Given the description of an element on the screen output the (x, y) to click on. 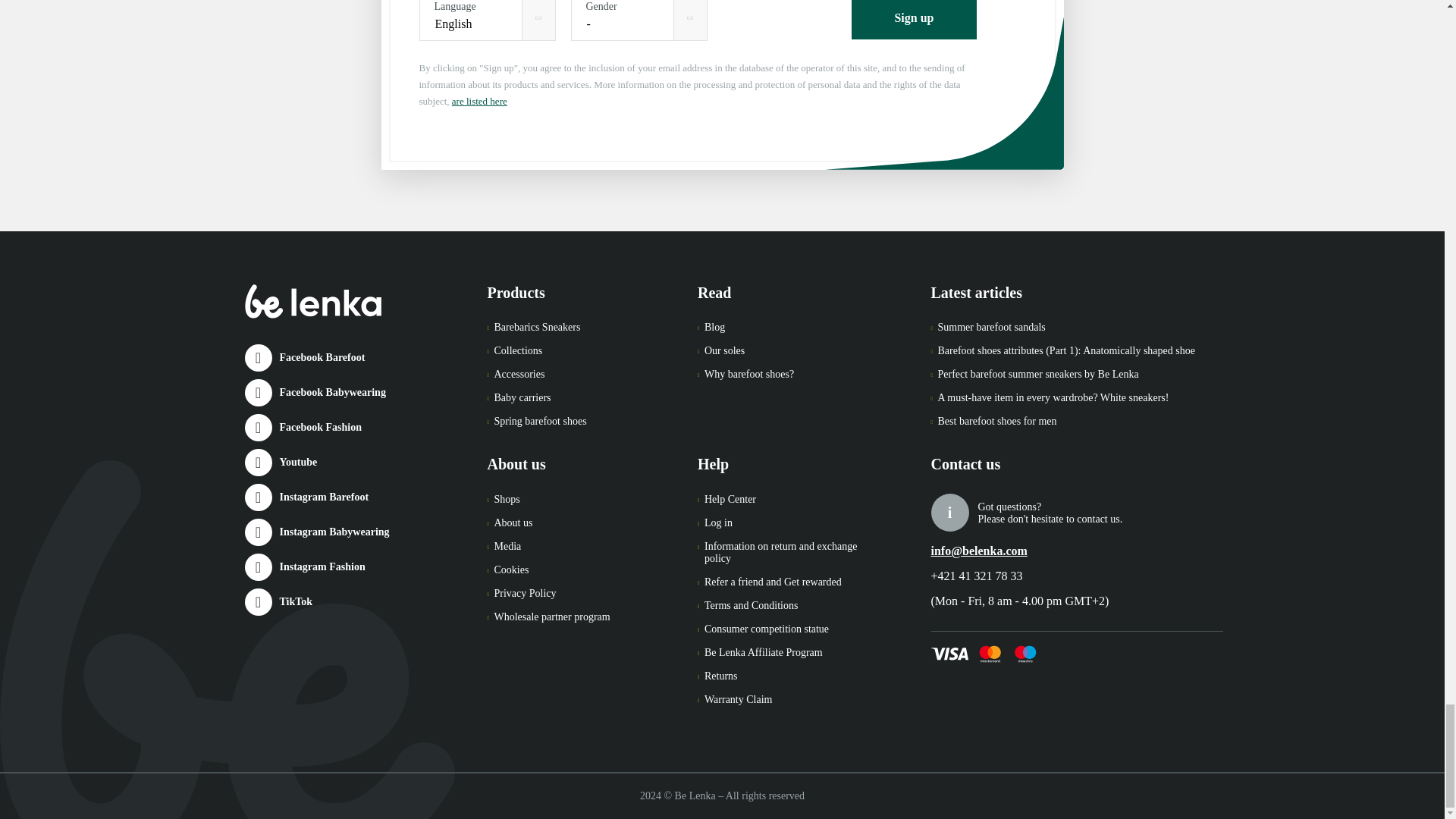
Sign up (913, 19)
